Given the description of an element on the screen output the (x, y) to click on. 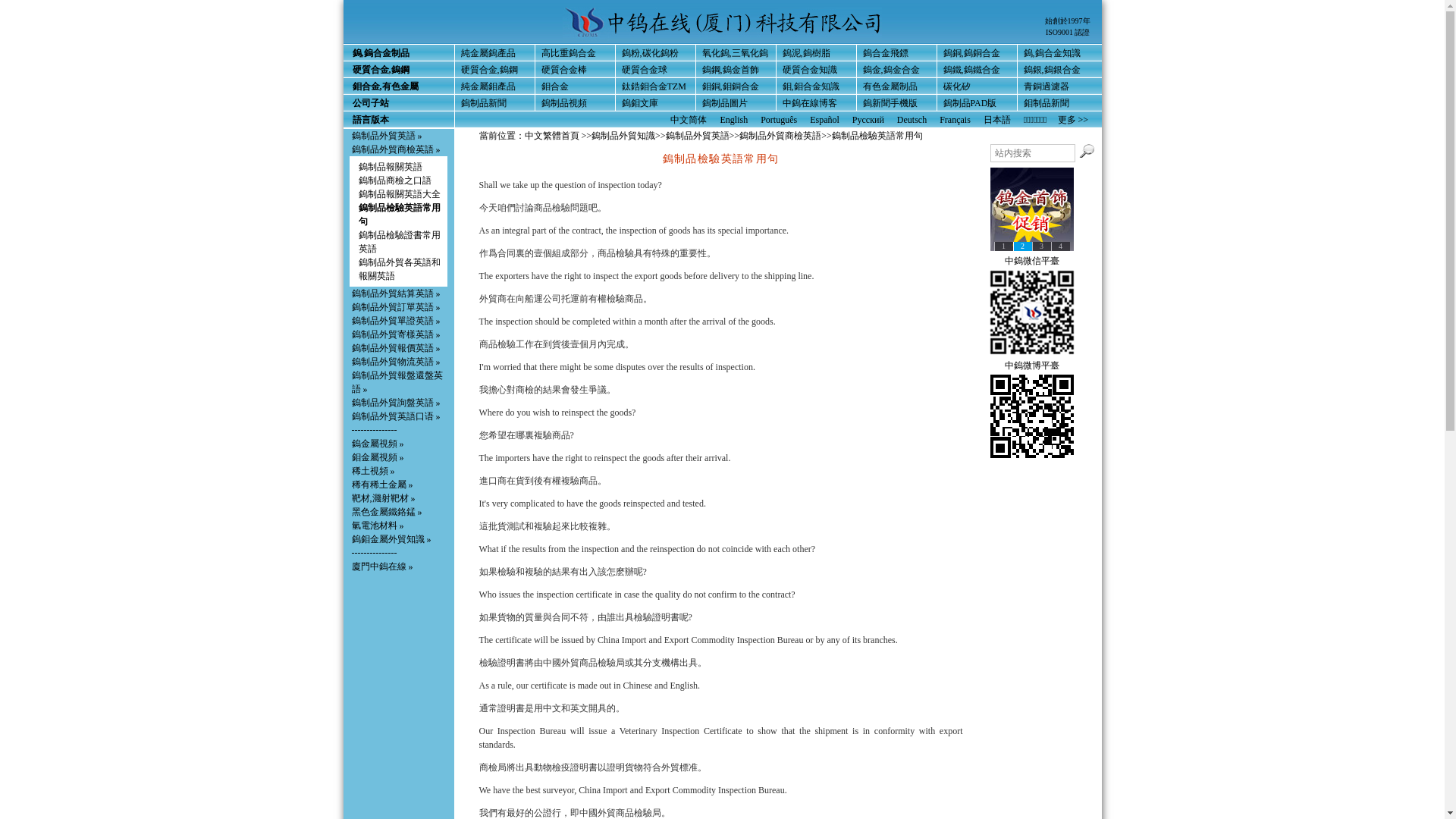
English (733, 119)
